Given the description of an element on the screen output the (x, y) to click on. 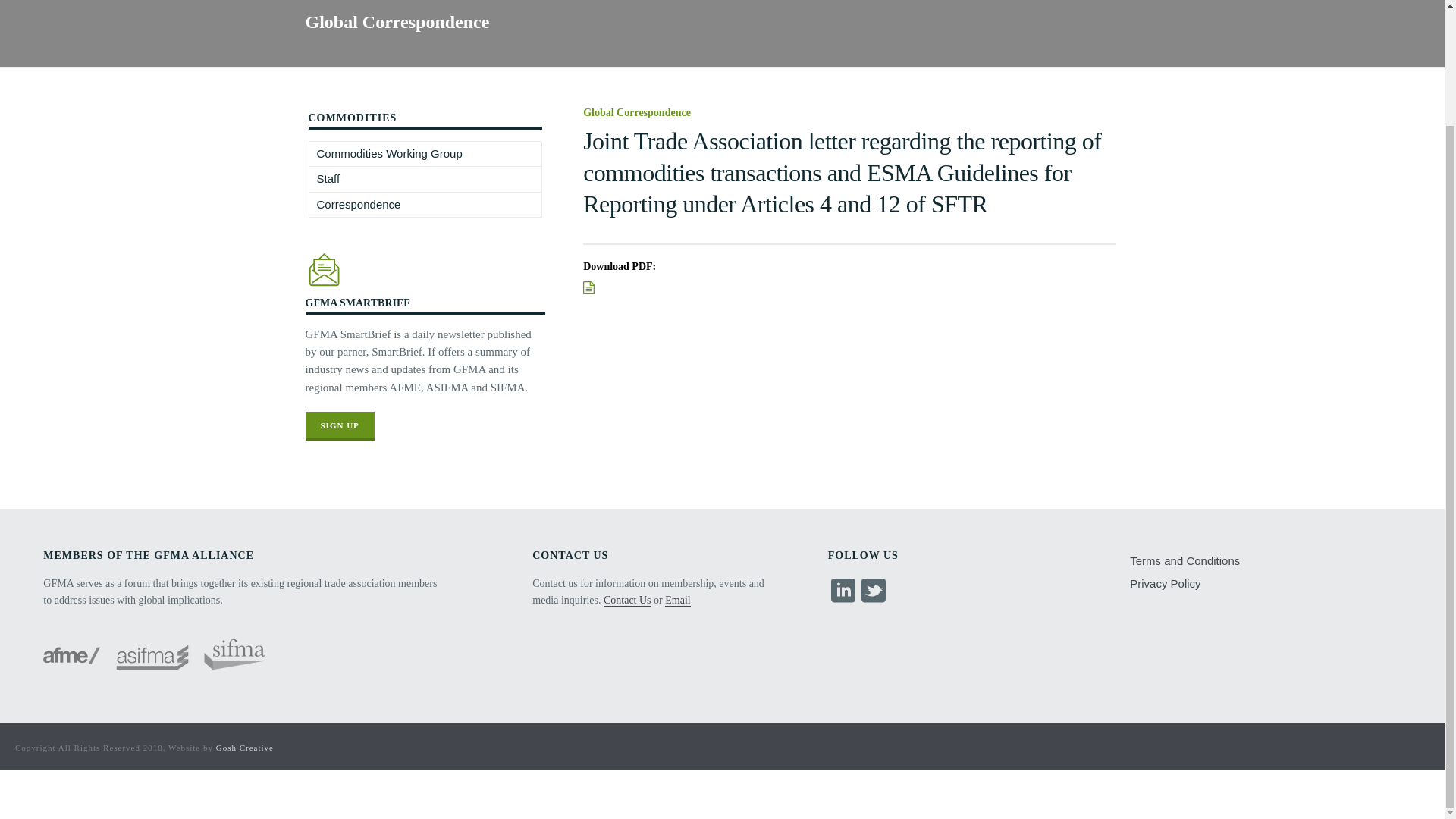
Terms and Conditions (1187, 560)
Commodities Working Group (389, 153)
Follow Us on linkedin (843, 591)
Email (677, 600)
Follow Us on twitter (873, 591)
Correspondence (358, 204)
Gosh Creative (244, 747)
Privacy Policy (1168, 583)
SIGN UP (339, 425)
Staff (327, 178)
Contact Us (627, 600)
